Given the description of an element on the screen output the (x, y) to click on. 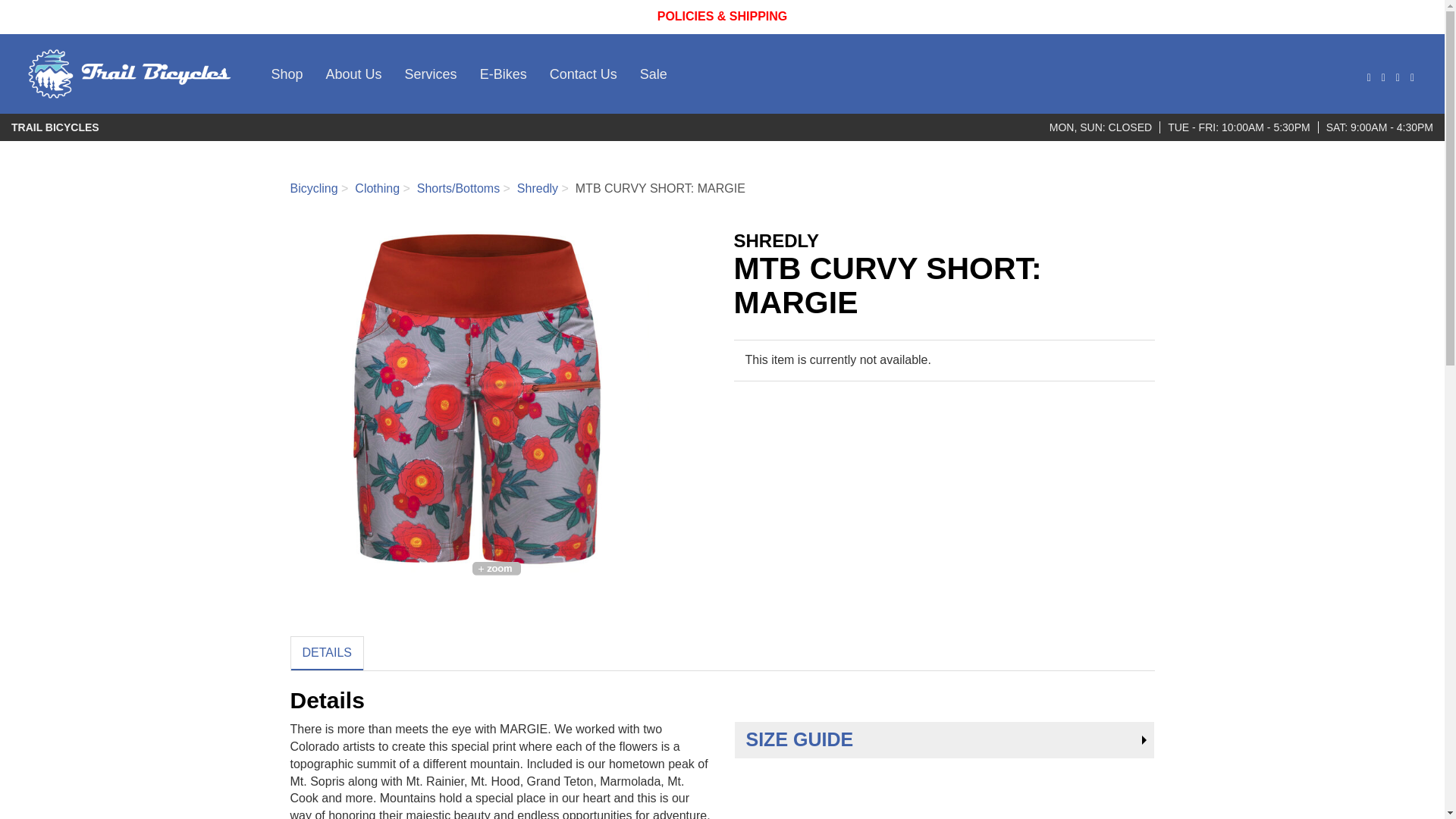
Shop (286, 73)
Stores (1396, 77)
Trail Bicycles Home Page (130, 74)
Account (1382, 77)
Cart (1410, 77)
Shredly MTB CURVY SHORT: MARGIE  (500, 401)
